Given the description of an element on the screen output the (x, y) to click on. 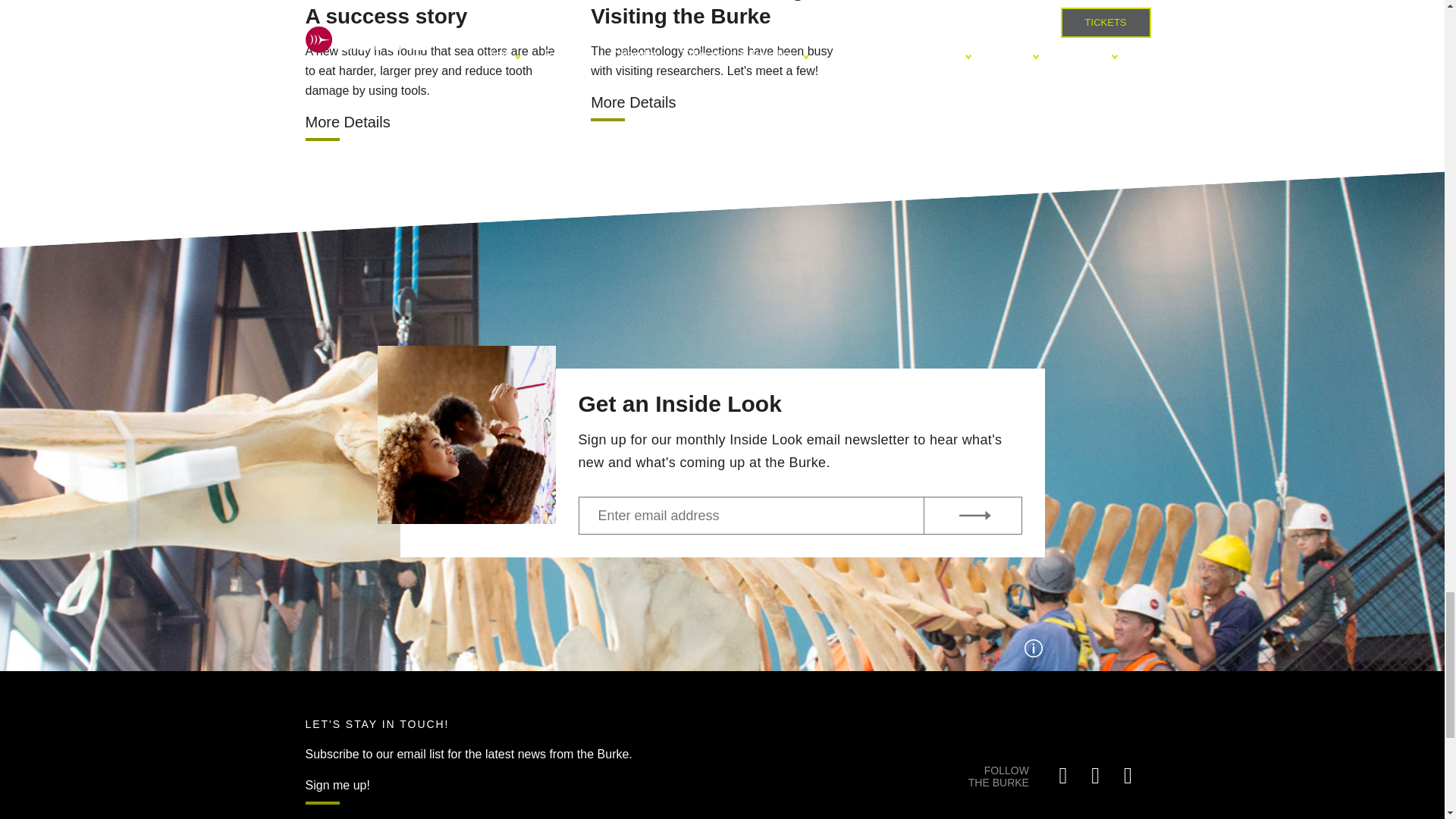
submit (972, 515)
